Given the description of an element on the screen output the (x, y) to click on. 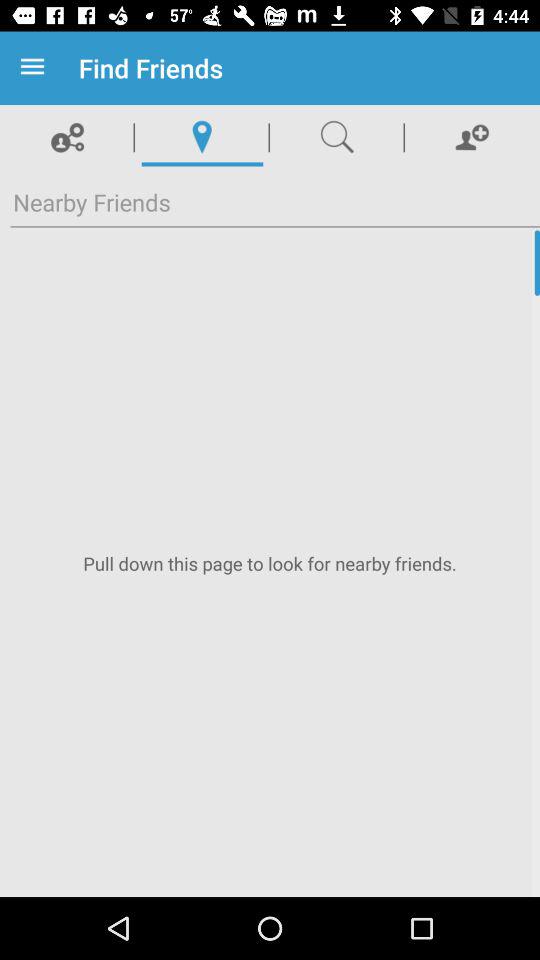
pull page (270, 563)
